Given the description of an element on the screen output the (x, y) to click on. 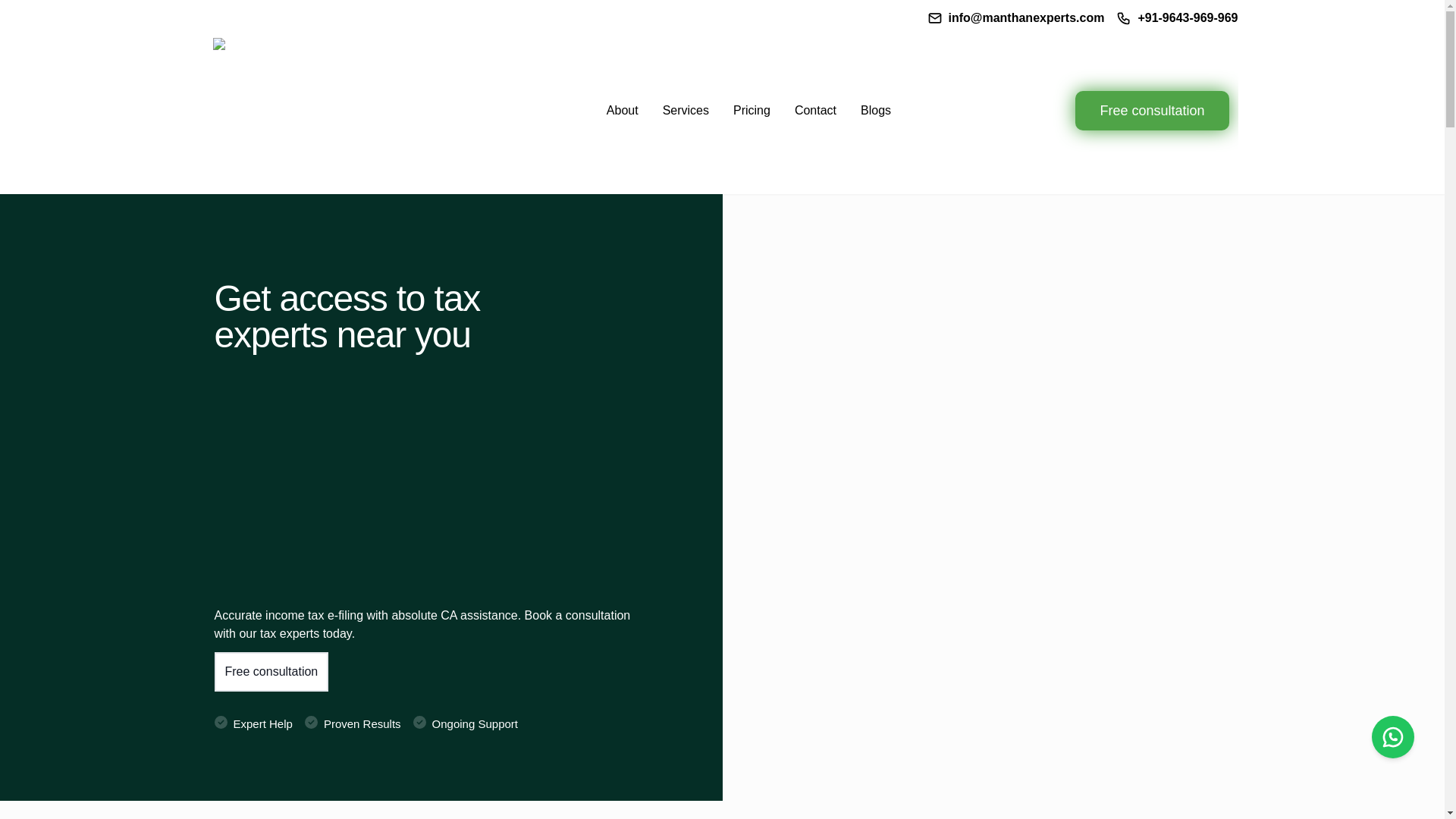
Free consultation (271, 670)
Services (685, 110)
Pricing (751, 110)
Free consultation (1151, 110)
Contact (814, 110)
Free consultation (271, 671)
